Given the description of an element on the screen output the (x, y) to click on. 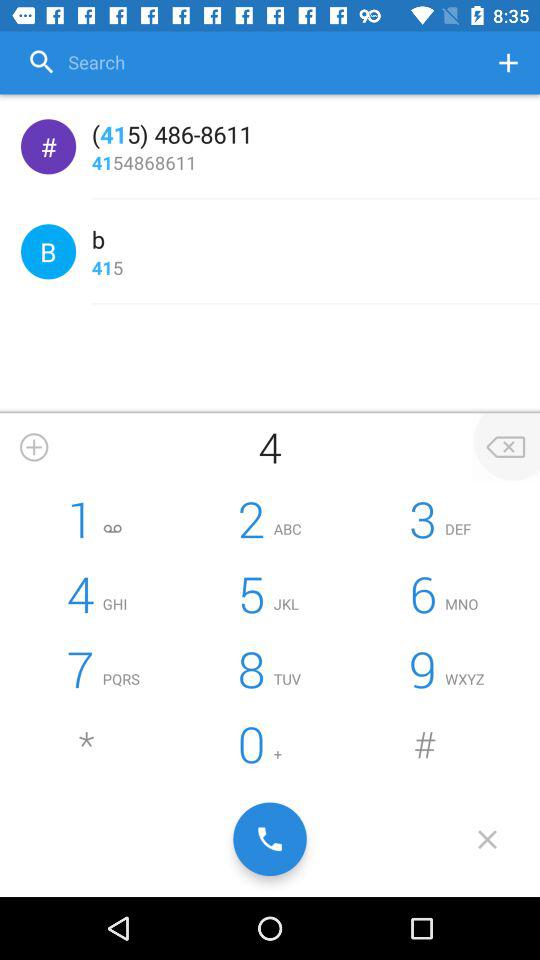
option (249, 62)
